Given the description of an element on the screen output the (x, y) to click on. 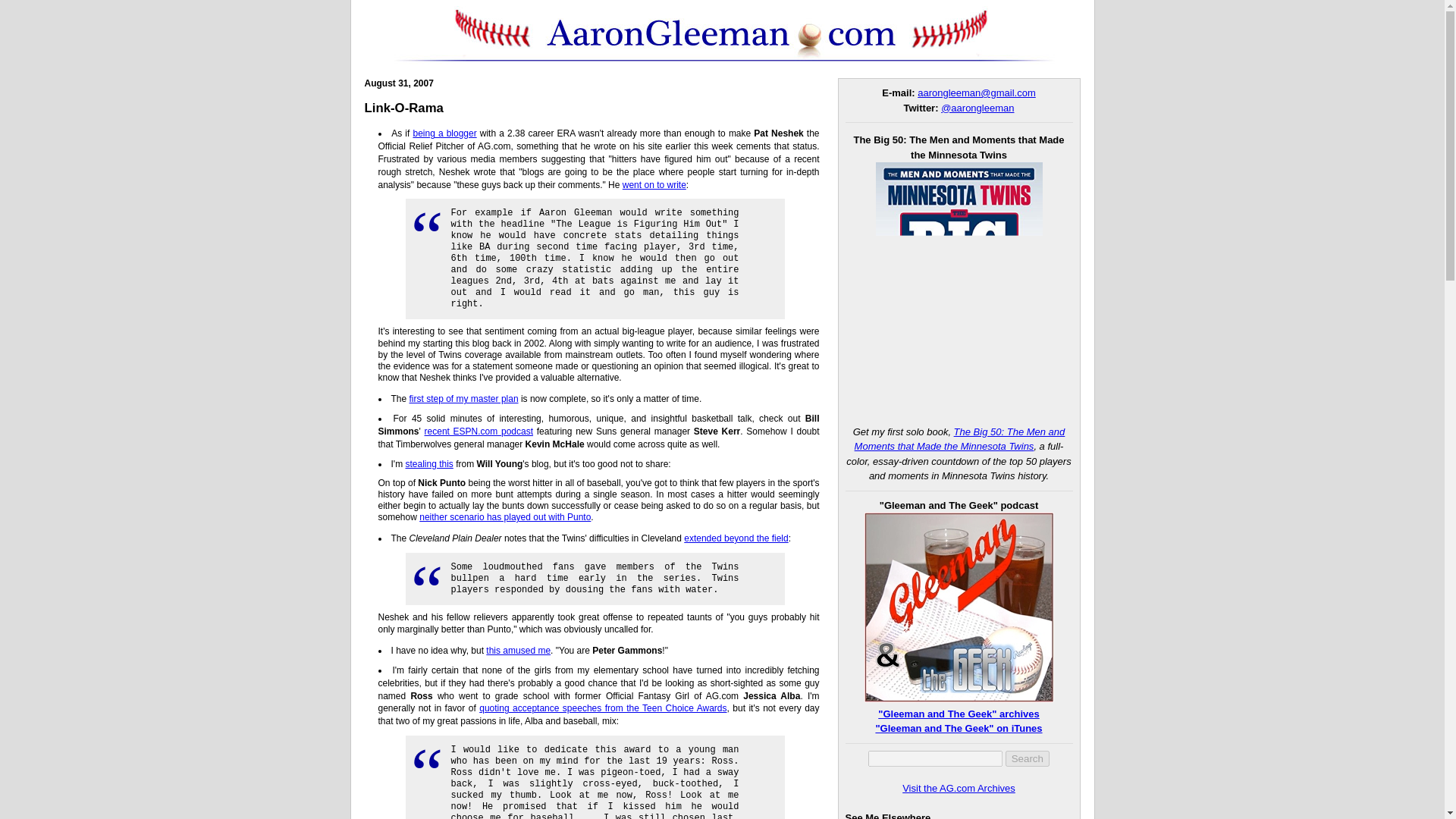
recent ESPN.com podcast (479, 430)
Search (1027, 758)
this amused me (518, 650)
being a blogger (444, 132)
extended beyond the field (735, 538)
stealing this (428, 463)
quoting acceptance speeches from the Teen Choice Awards (602, 707)
neither scenario has played out with Punto (505, 516)
first step of my master plan (463, 398)
went on to write (654, 184)
